Given the description of an element on the screen output the (x, y) to click on. 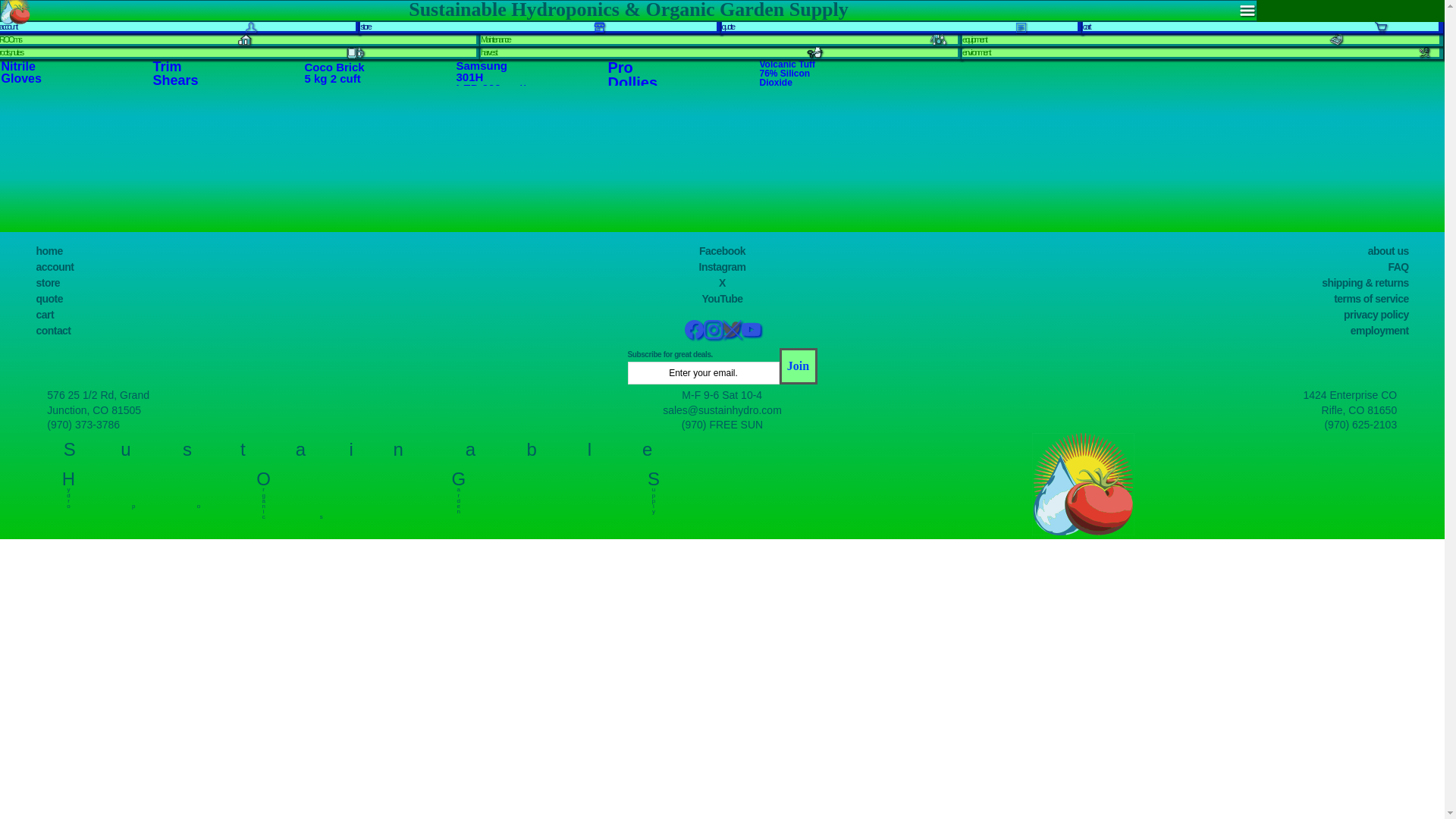
Instagram (721, 266)
privacy policy (1376, 314)
LED 900 watt (492, 88)
Maintenance (495, 39)
YouTube (721, 298)
Trim Shears (175, 72)
Facebook (721, 250)
FAQ (1399, 266)
cart (44, 314)
employment (1380, 330)
